Given the description of an element on the screen output the (x, y) to click on. 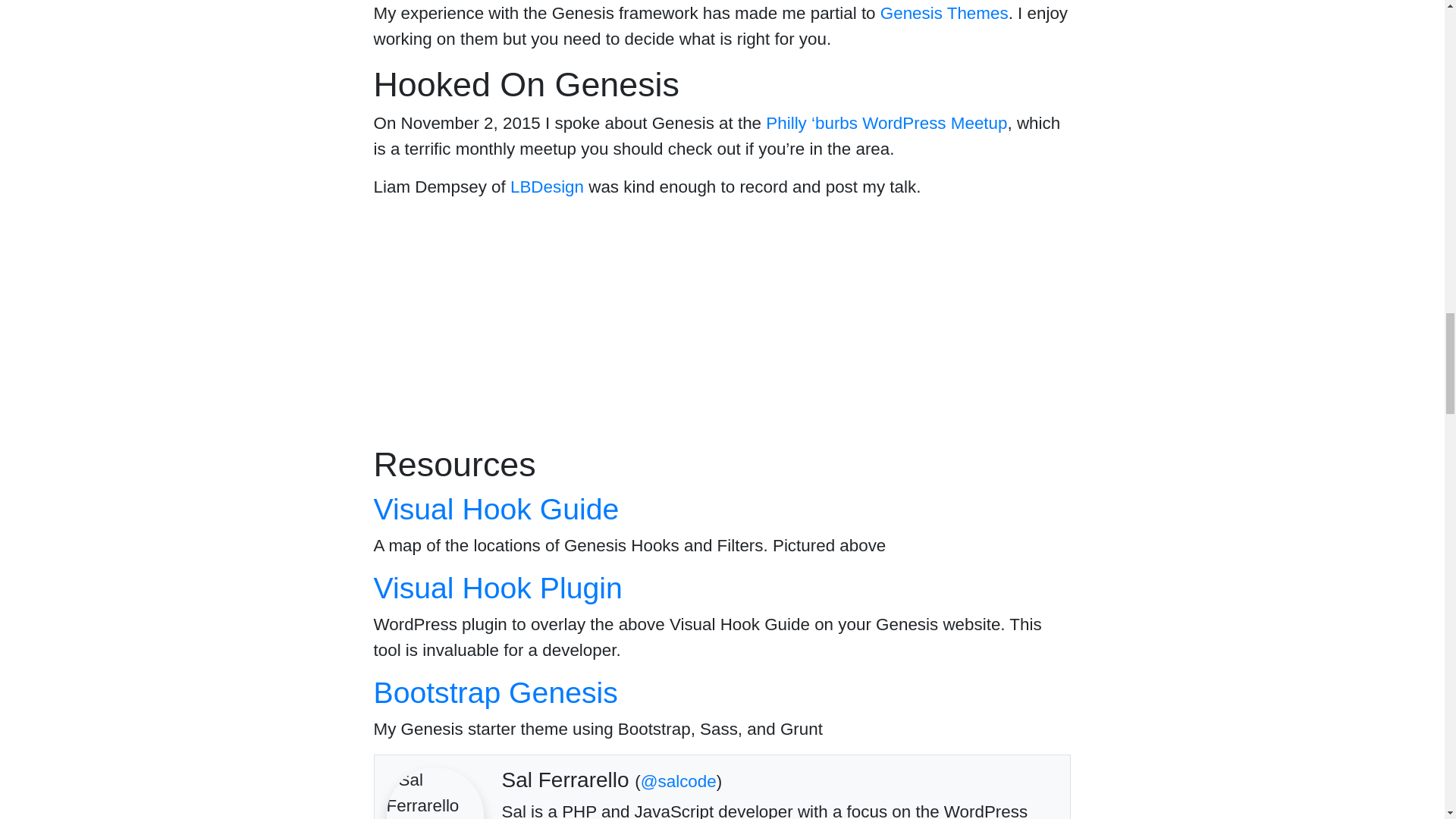
Visual Hook Plugin (496, 587)
Genesis Themes (944, 13)
Visual Hook Guide (495, 509)
Bootstrap Genesis (494, 692)
LBDesign (547, 186)
